Given the description of an element on the screen output the (x, y) to click on. 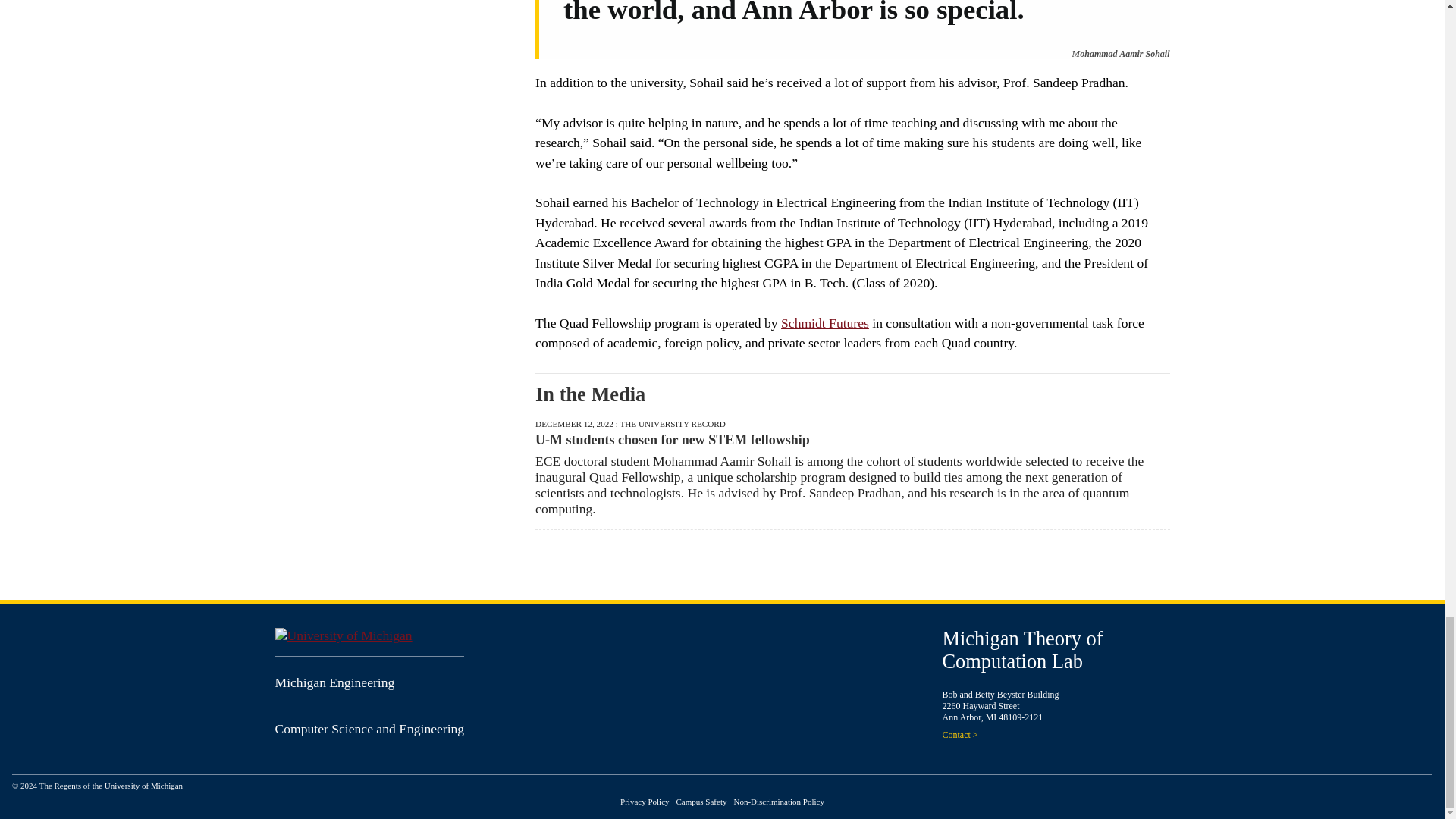
Michigan Theory of Computation Lab (1022, 649)
Privacy Policy (644, 800)
Campus Safety (701, 800)
Non-Discrimination Policy (778, 800)
Computer Science and Engineering (369, 728)
Schmidt Futures (824, 322)
The Regents of the University of Michigan (111, 785)
Michigan Engineering (334, 682)
